Given the description of an element on the screen output the (x, y) to click on. 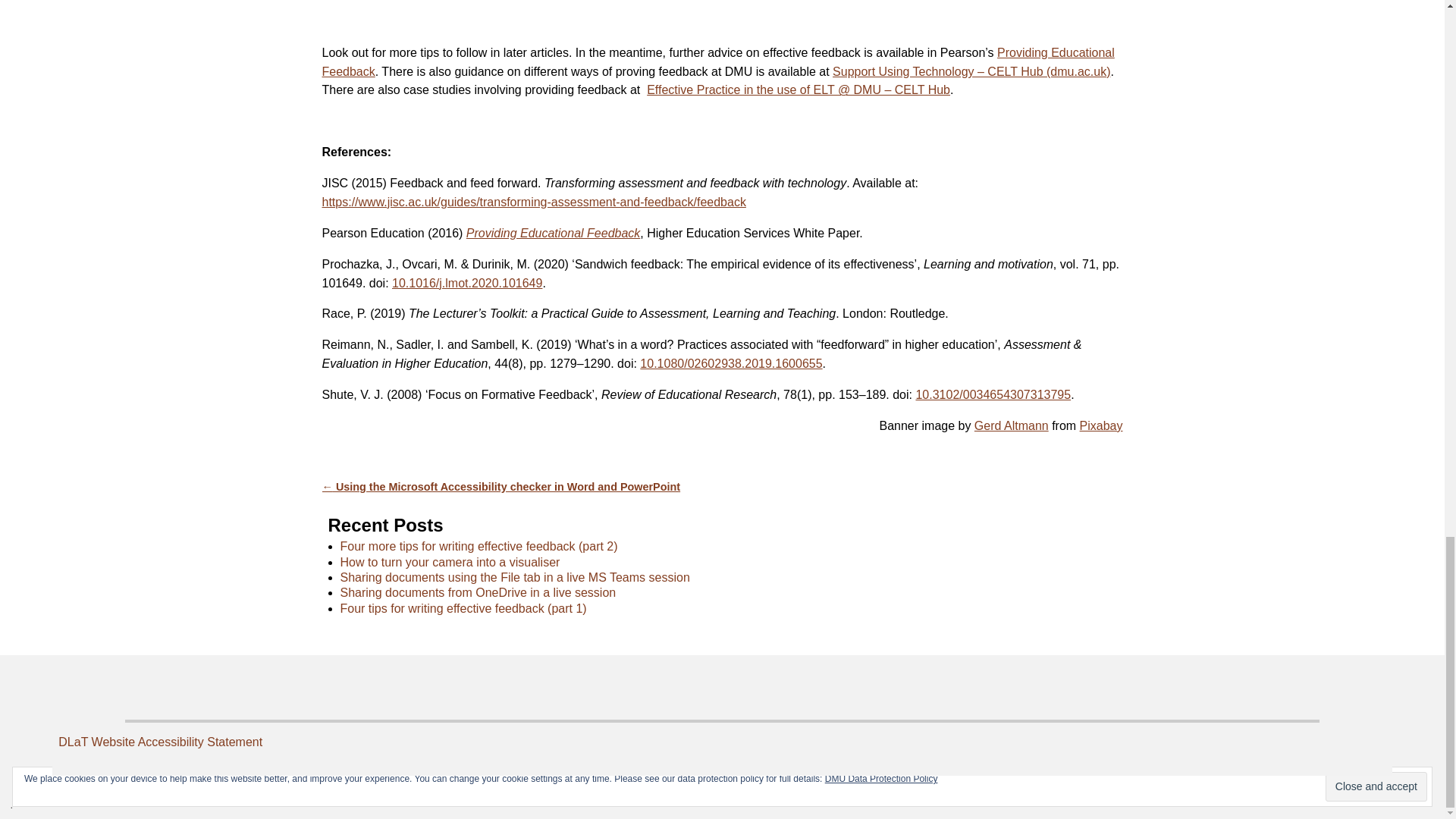
Providing Educational Feedback (552, 232)
Sharing documents from OneDrive in a live session (477, 592)
Providing Educational Feedback (717, 61)
Gerd Altmann (1011, 425)
How to turn your camera into a visualiser (449, 562)
DLaT Website Accessibility Statement (160, 741)
Pixabay (1101, 425)
